Given the description of an element on the screen output the (x, y) to click on. 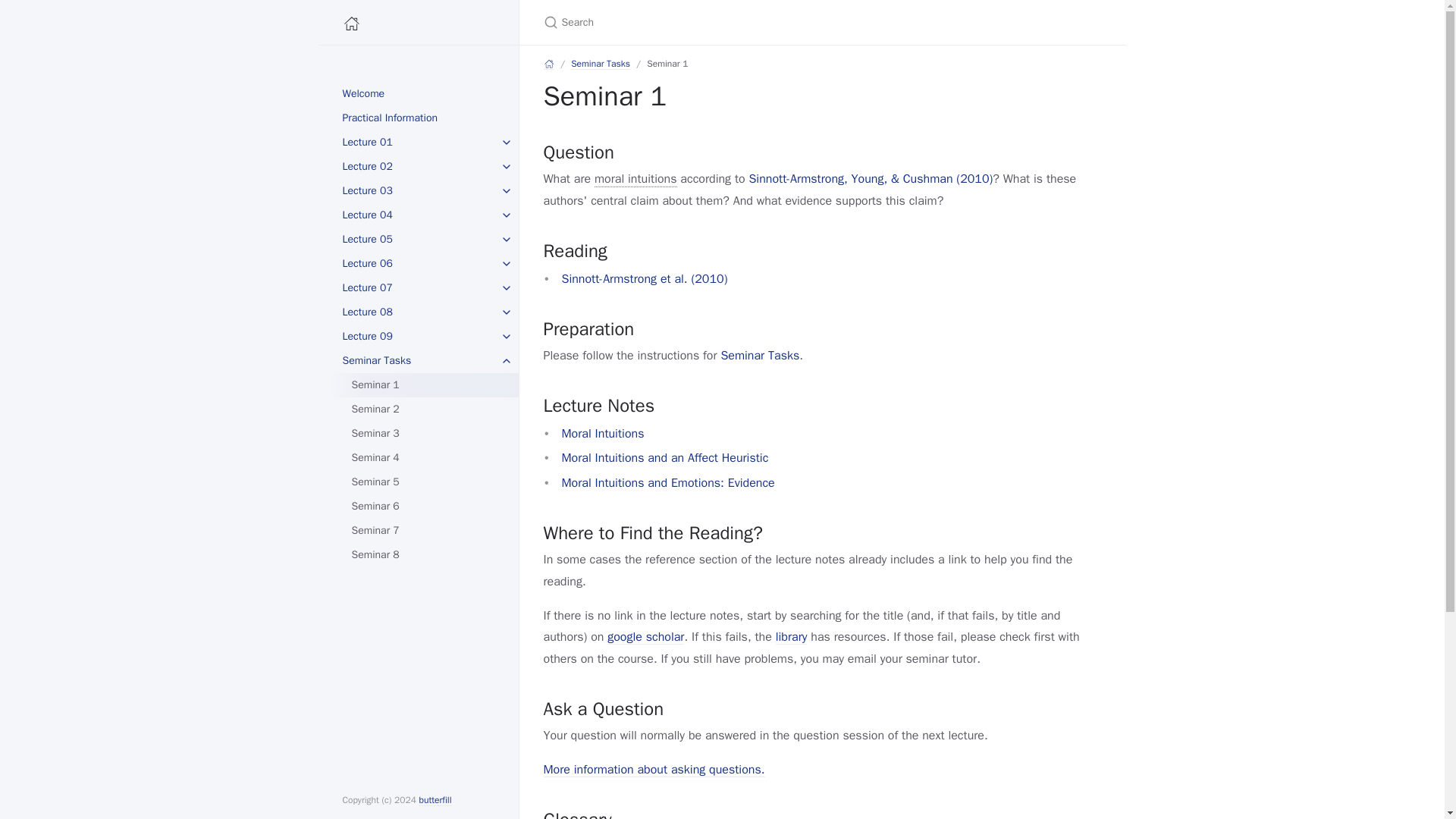
Lecture 03 (418, 191)
Lecture 04 (418, 215)
Lecture 01 (418, 142)
Lecture 05 (418, 239)
Lecture 02 (418, 166)
Practical Information (418, 118)
Welcome (418, 93)
